Given the description of an element on the screen output the (x, y) to click on. 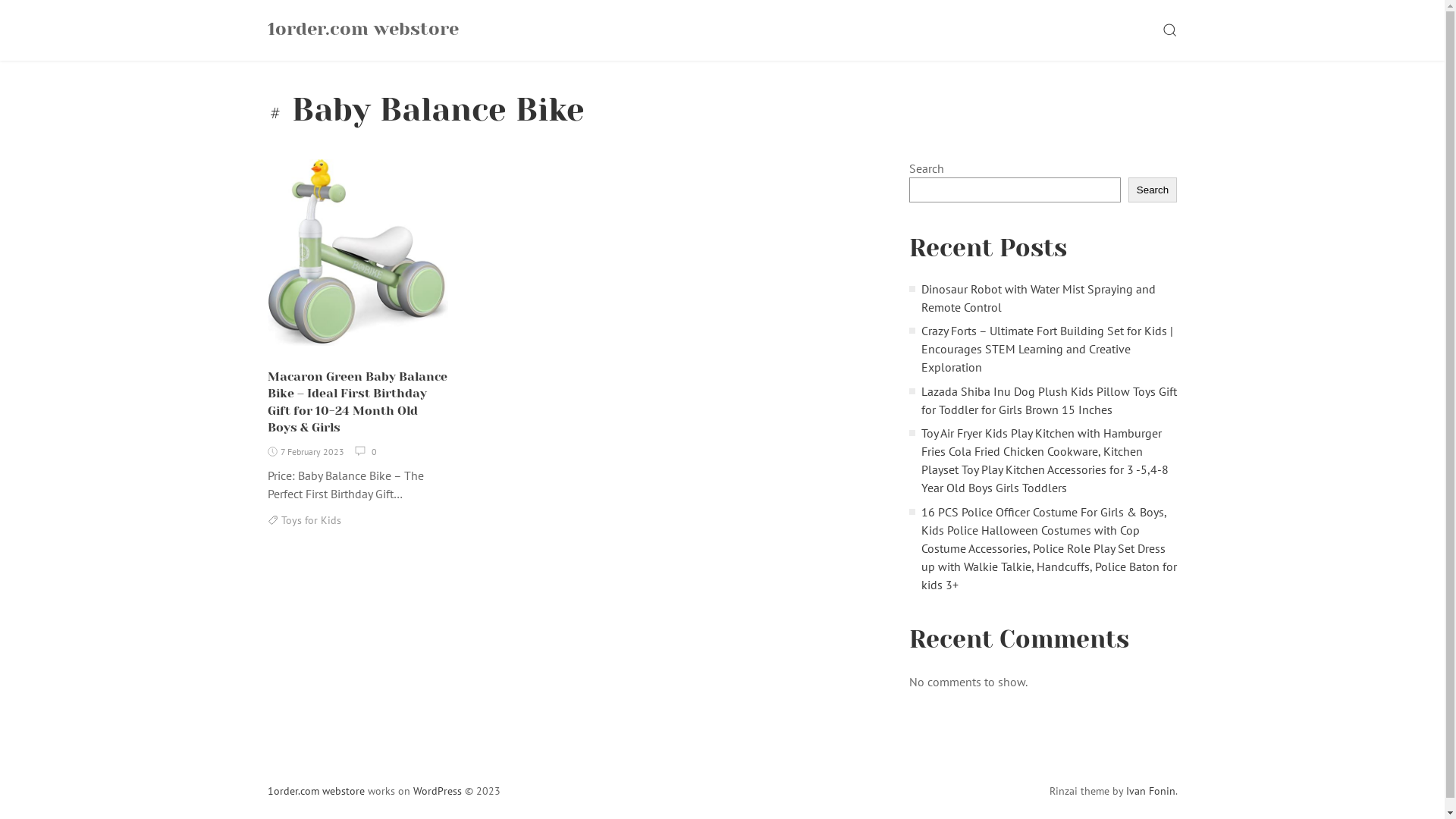
1order.com webstore Element type: text (315, 790)
Dinosaur Robot with Water Mist Spraying and Remote Control Element type: text (1038, 297)
Toys for Kids Element type: text (310, 520)
Ivan Fonin Element type: text (1149, 790)
SEARCH Element type: text (1169, 29)
Search Element type: text (1152, 189)
WordPress Element type: text (436, 790)
